Given the description of an element on the screen output the (x, y) to click on. 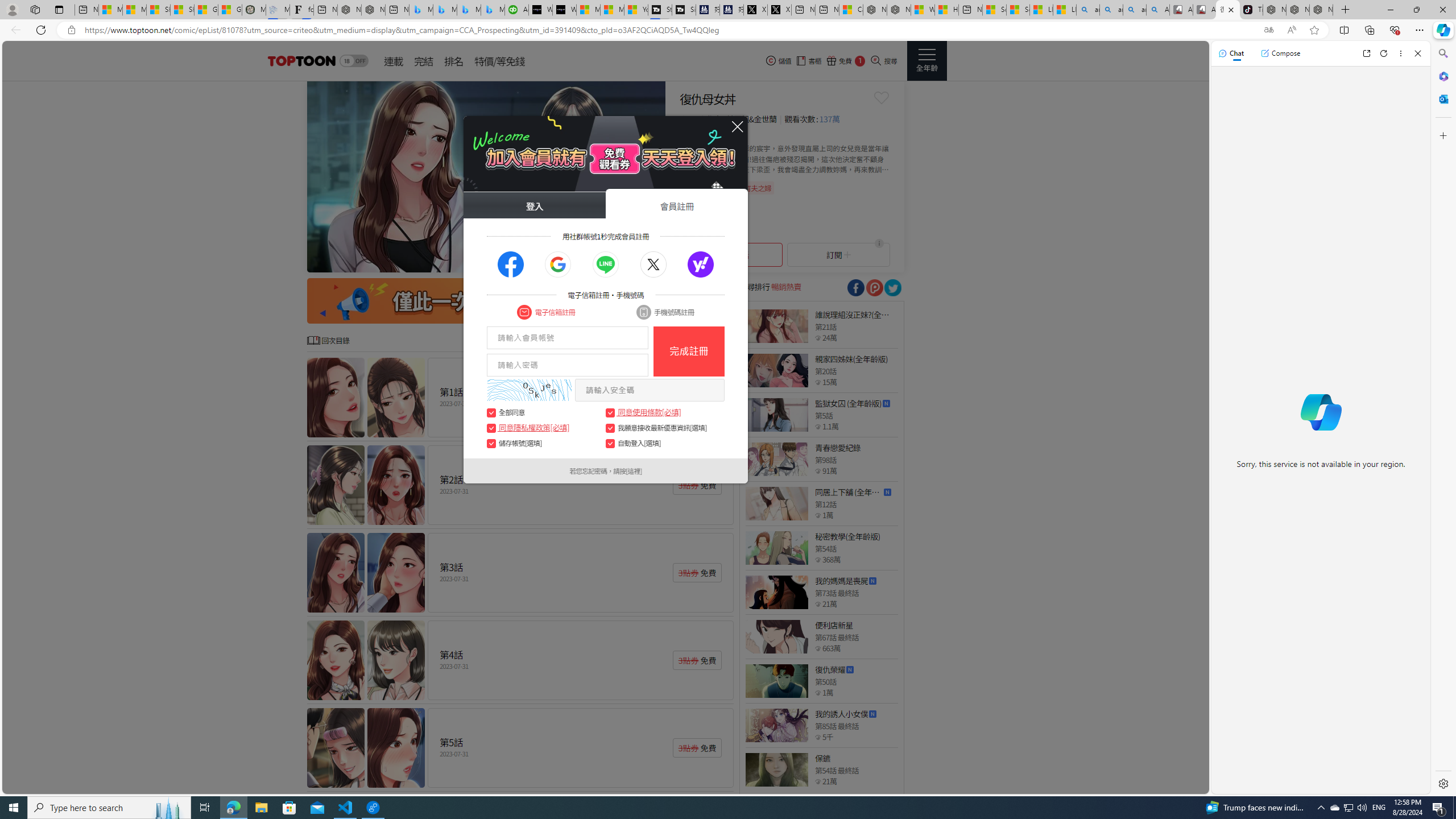
captcha (529, 390)
Class: thumb_img (776, 769)
Side bar (1443, 418)
